Given the description of an element on the screen output the (x, y) to click on. 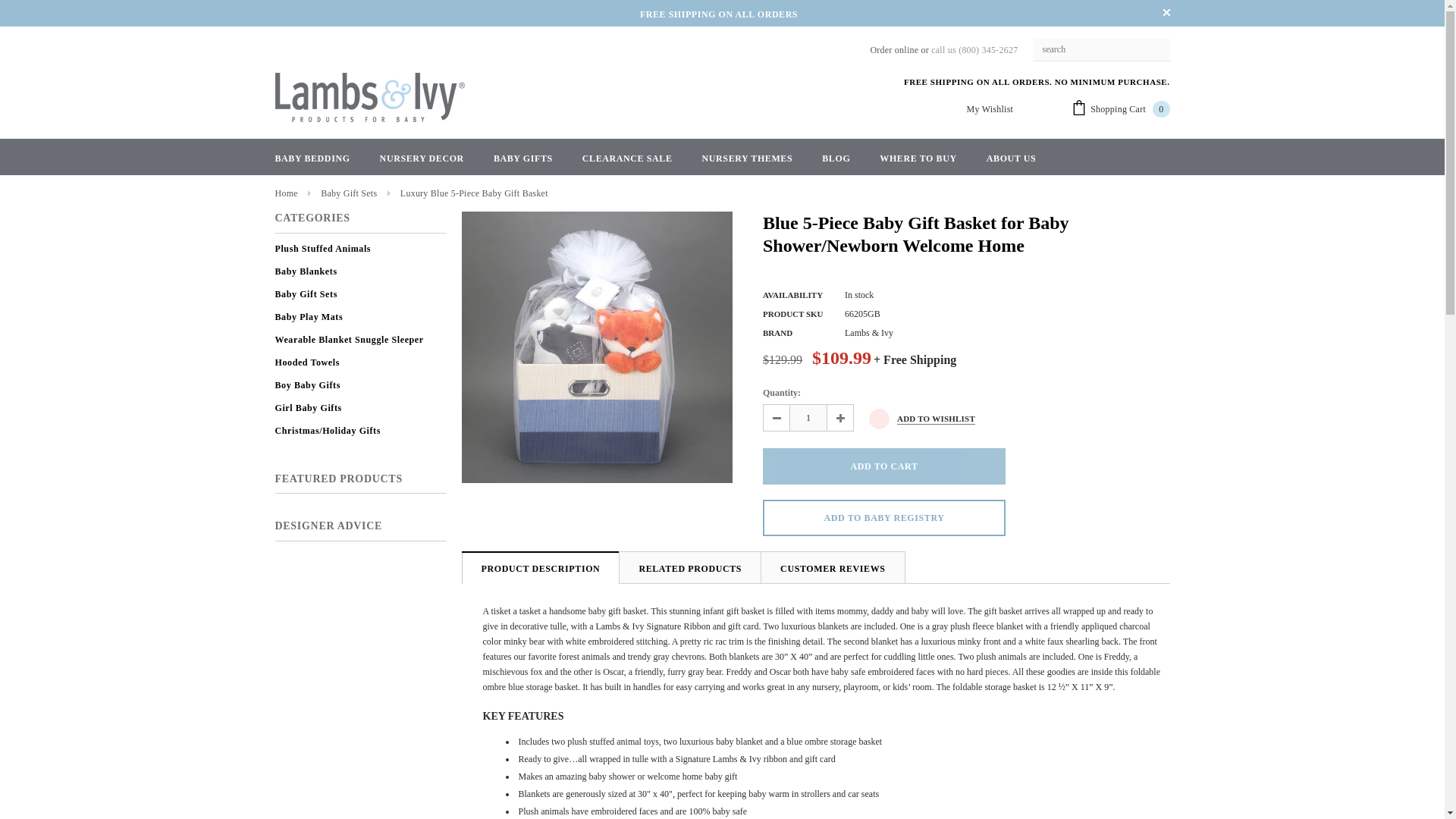
1 (808, 417)
Add to Cart (884, 465)
Shopping Cart 0 (1120, 109)
My Wishlist (989, 109)
CLOSE (1166, 12)
Wishlist (922, 417)
NURSERY DECOR (422, 158)
BABY BEDDING (312, 158)
